Given the description of an element on the screen output the (x, y) to click on. 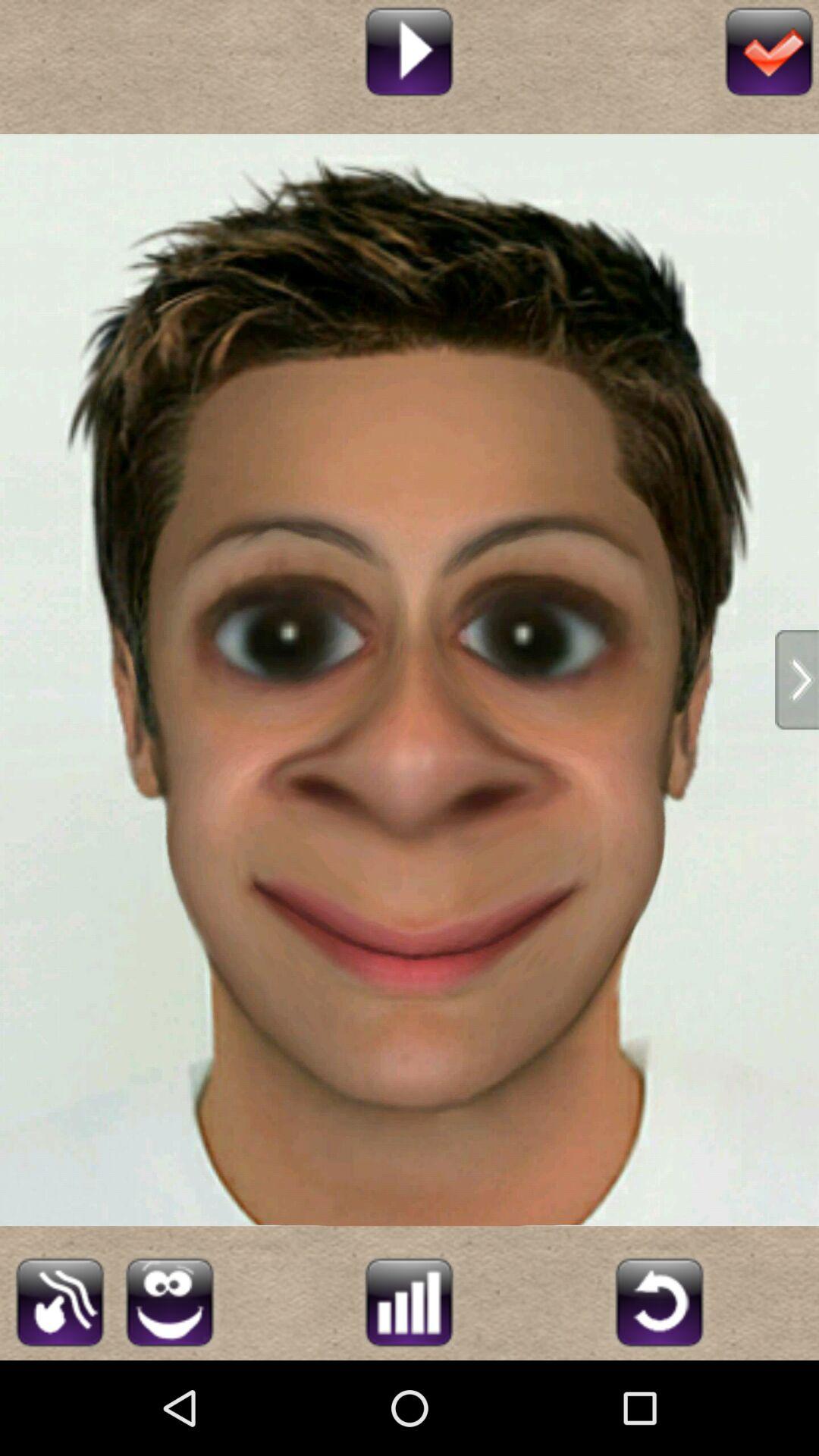
edit face (169, 1300)
